Given the description of an element on the screen output the (x, y) to click on. 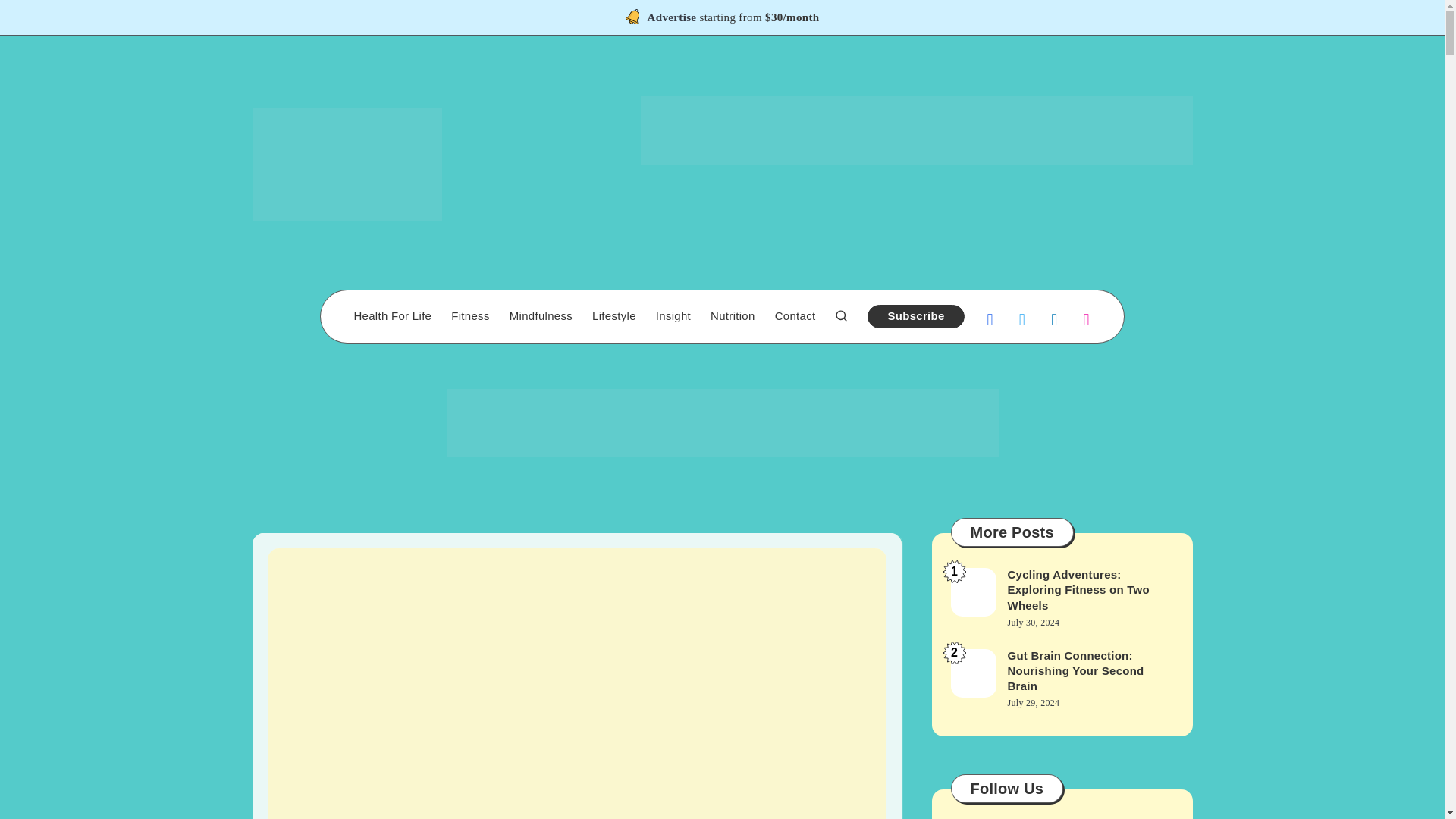
Mindfulness (540, 316)
Health For Life (391, 316)
Nutrition (732, 316)
Insight (673, 316)
Contact (794, 316)
Fitness (470, 316)
Advertise (672, 19)
Subscribe (915, 316)
Lifestyle (614, 316)
